Given the description of an element on the screen output the (x, y) to click on. 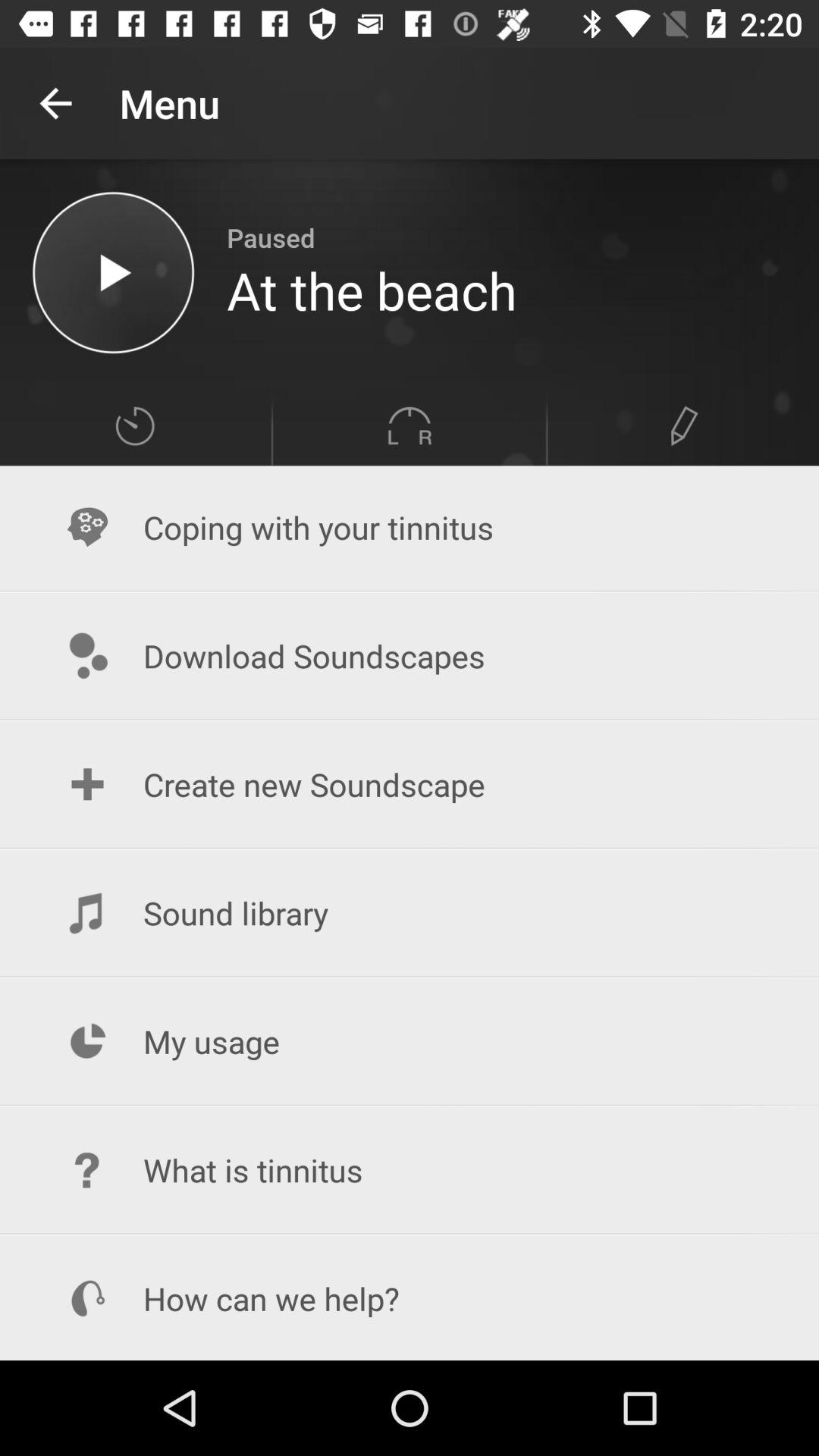
because back devicer (113, 272)
